Given the description of an element on the screen output the (x, y) to click on. 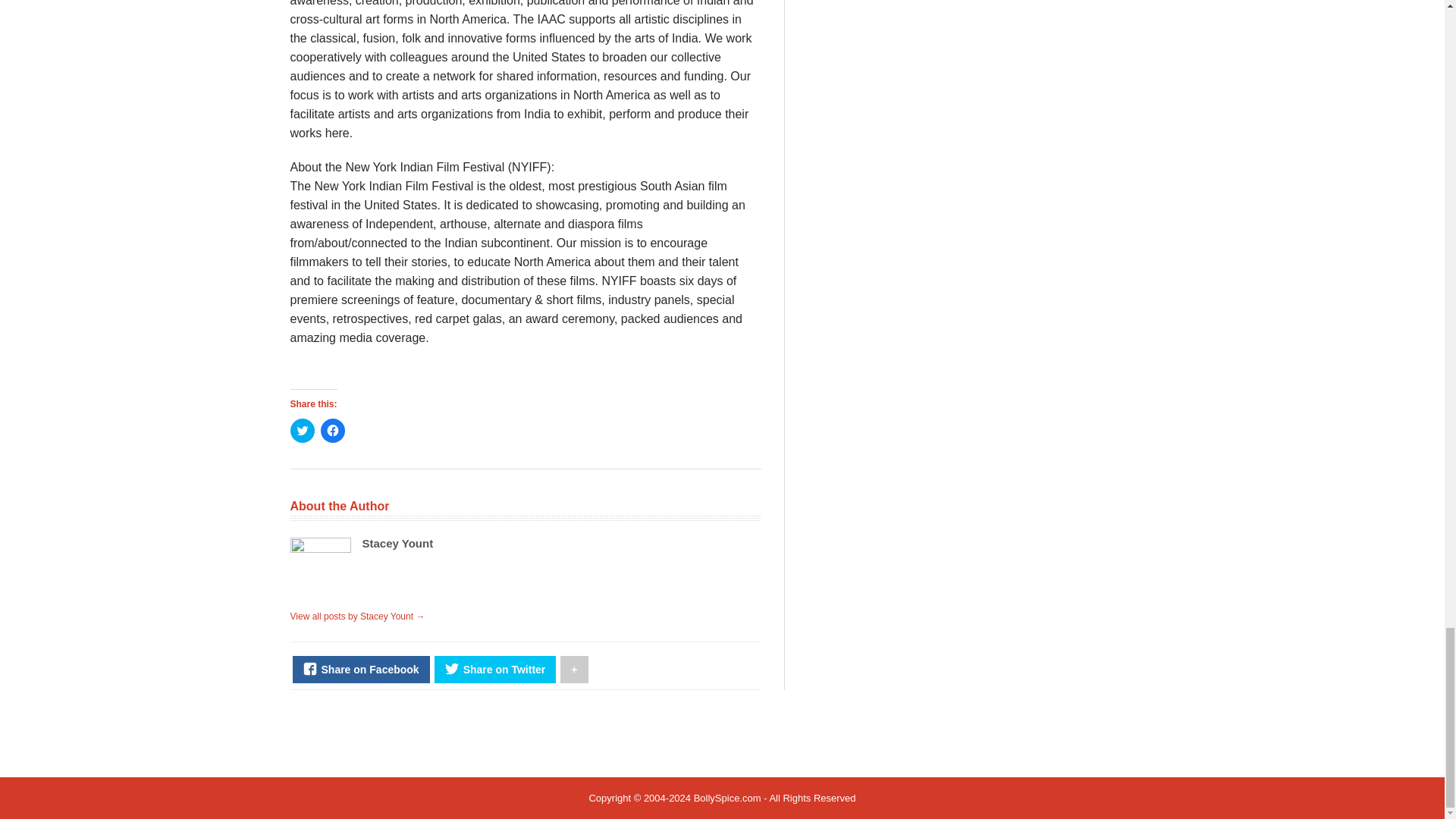
Click to share on Facebook (331, 430)
Click to share on Twitter (301, 430)
